Given the description of an element on the screen output the (x, y) to click on. 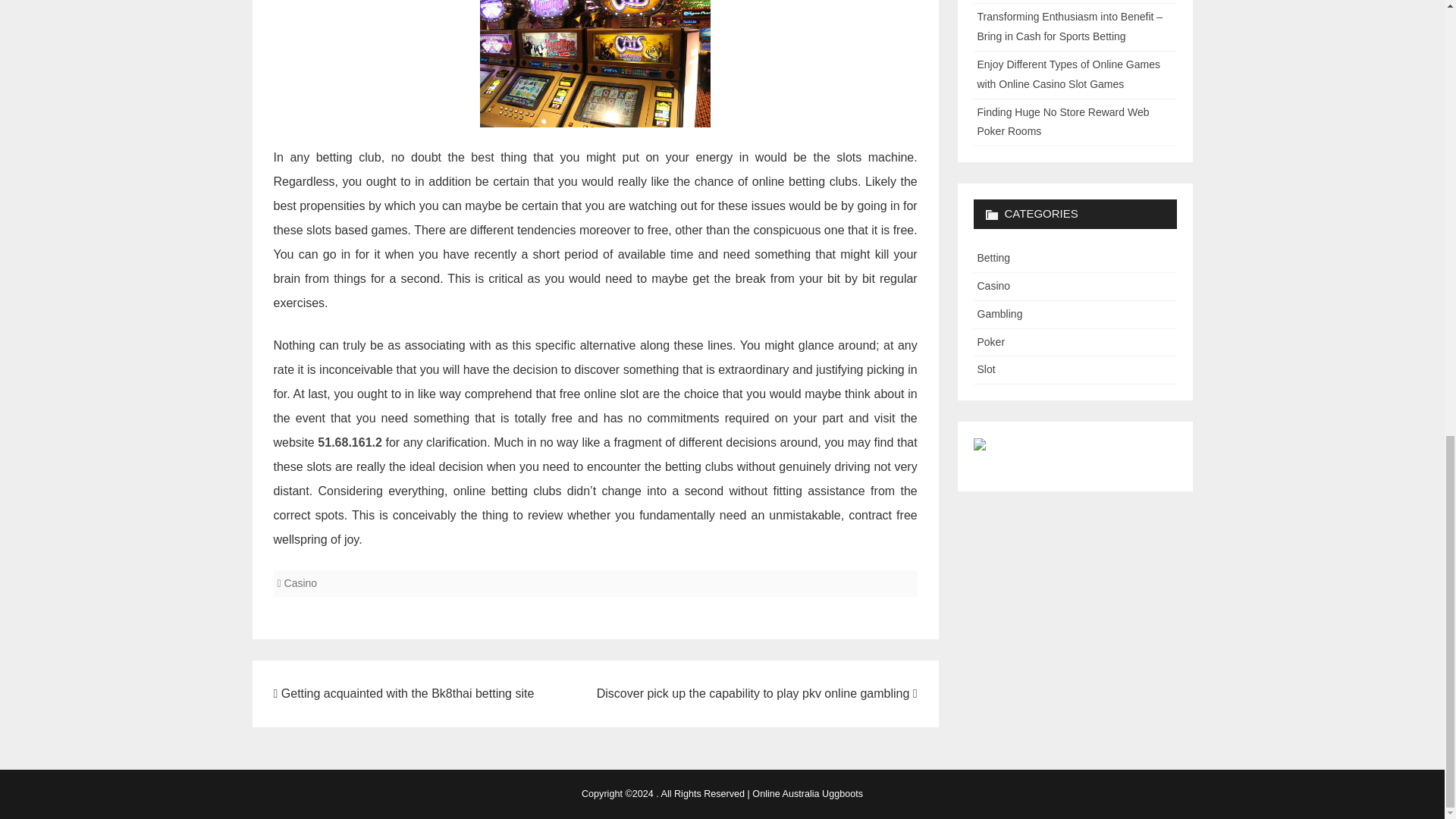
Finding Huge No Store Reward Web Poker Rooms (1062, 122)
Casino (993, 285)
Gambling (999, 313)
Discover pick up the capability to play pkv online gambling (756, 693)
Getting acquainted with the Bk8thai betting site (403, 693)
Betting (993, 257)
Poker (990, 341)
Casino (300, 582)
51.68.161.2 (349, 441)
